Given the description of an element on the screen output the (x, y) to click on. 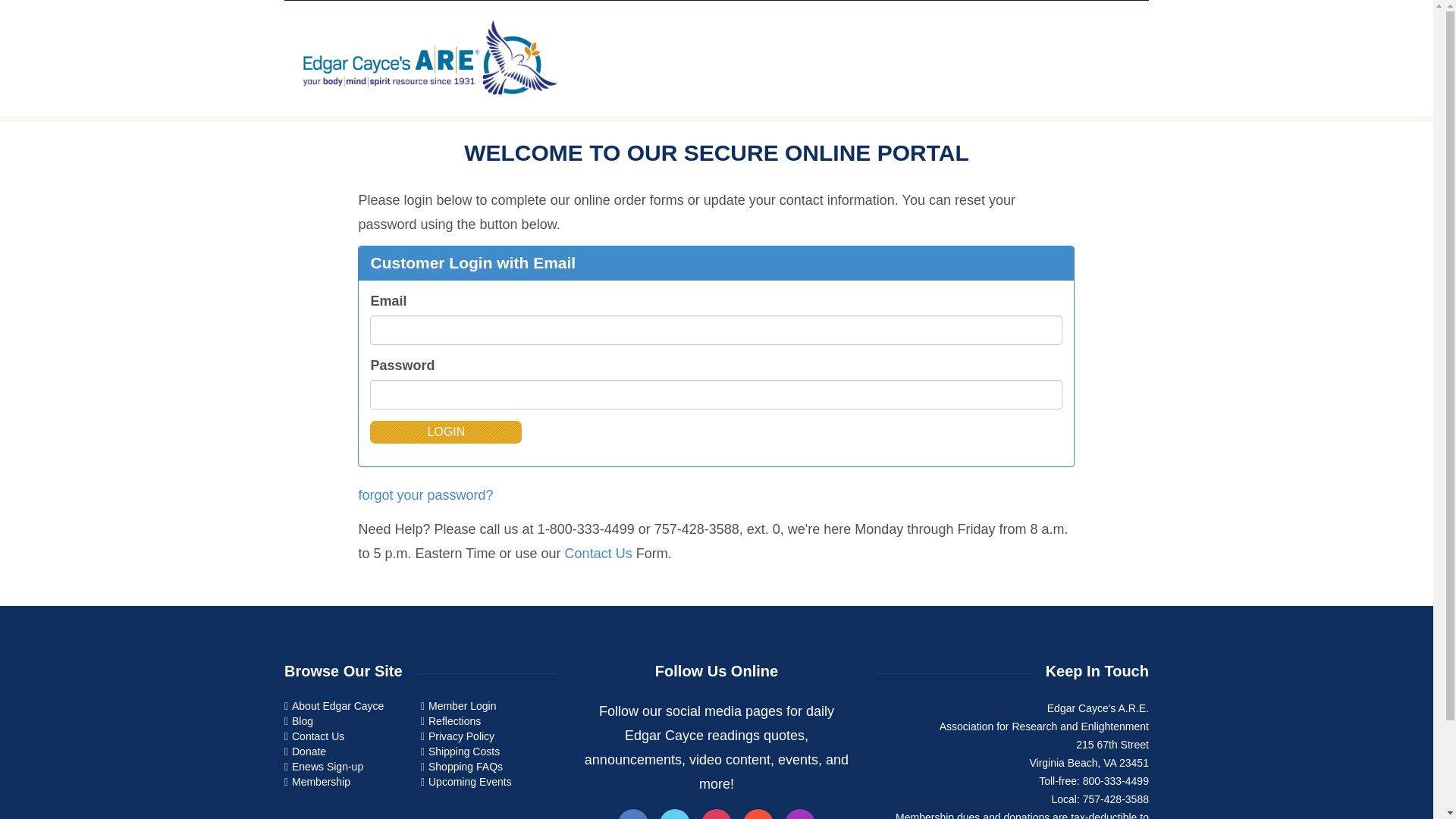
Reflections (454, 720)
Enews Sign-up (327, 766)
Contact Us (317, 736)
Shopping FAQs (465, 766)
Customer Login with Email (472, 262)
About Edgar Cayce (338, 705)
Privacy Policy (461, 736)
Membership (321, 780)
Login (445, 432)
